Given the description of an element on the screen output the (x, y) to click on. 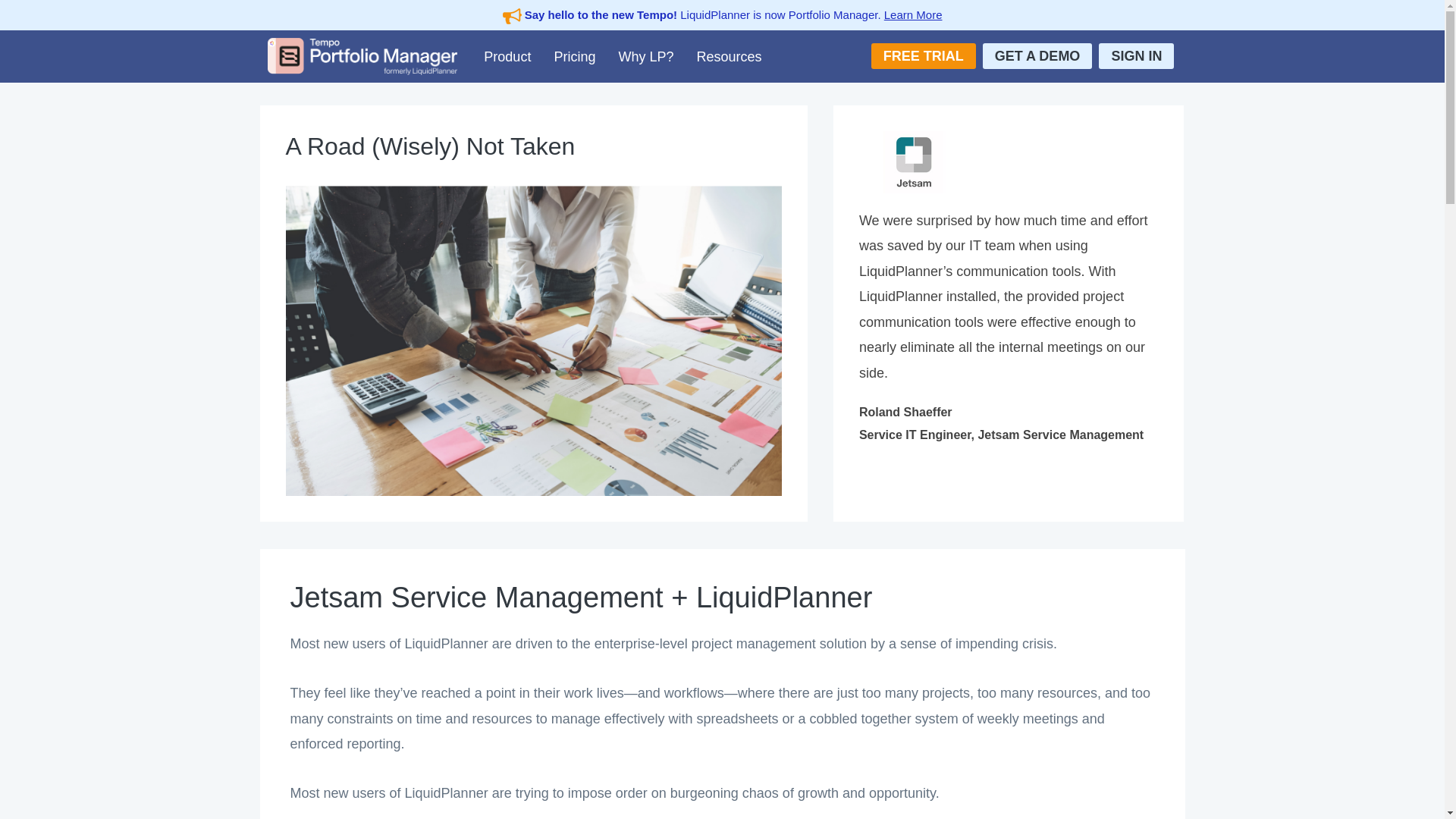
Resources (728, 56)
Product (506, 56)
SIGN IN (1136, 55)
Pricing (574, 56)
Why LP? (645, 56)
FREE TRIAL (922, 55)
GET A DEMO (1037, 55)
